Given the description of an element on the screen output the (x, y) to click on. 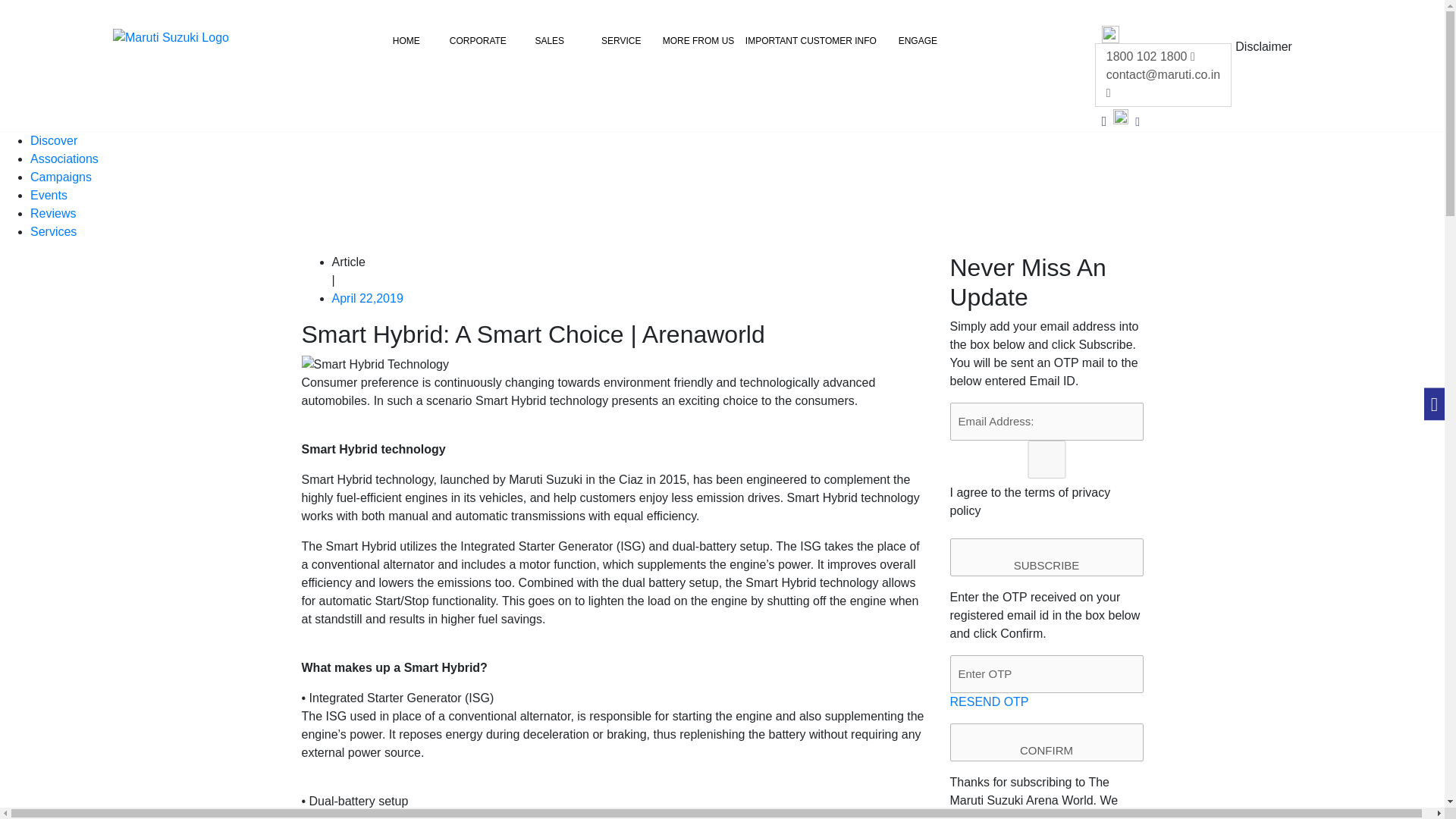
on (1045, 459)
CONFIRM (1045, 742)
HOME (405, 42)
CORPORATE (477, 42)
SUBSCRIBE (1045, 557)
